Given the description of an element on the screen output the (x, y) to click on. 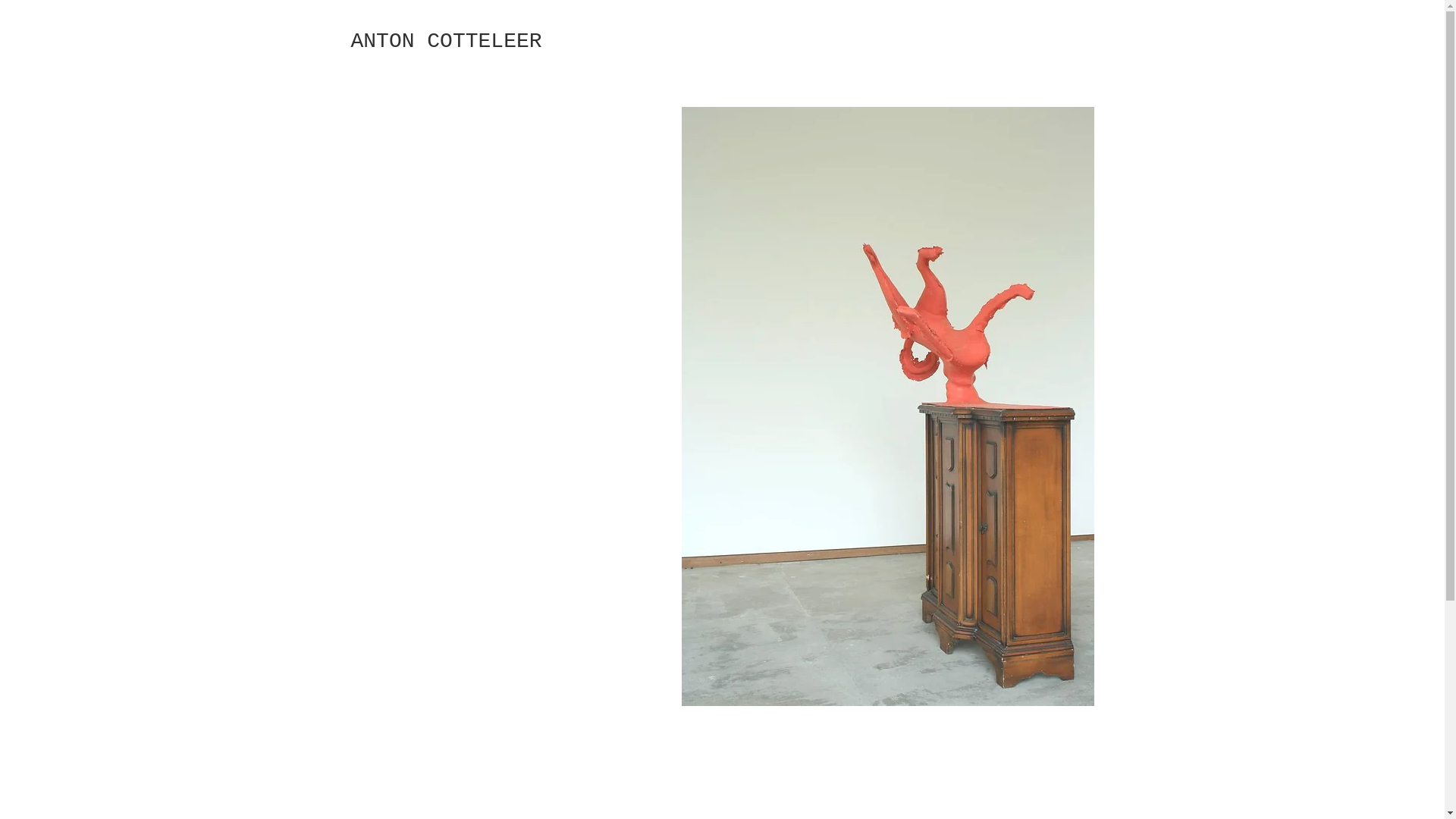
ANTON COTTELEER Element type: text (445, 41)
